Given the description of an element on the screen output the (x, y) to click on. 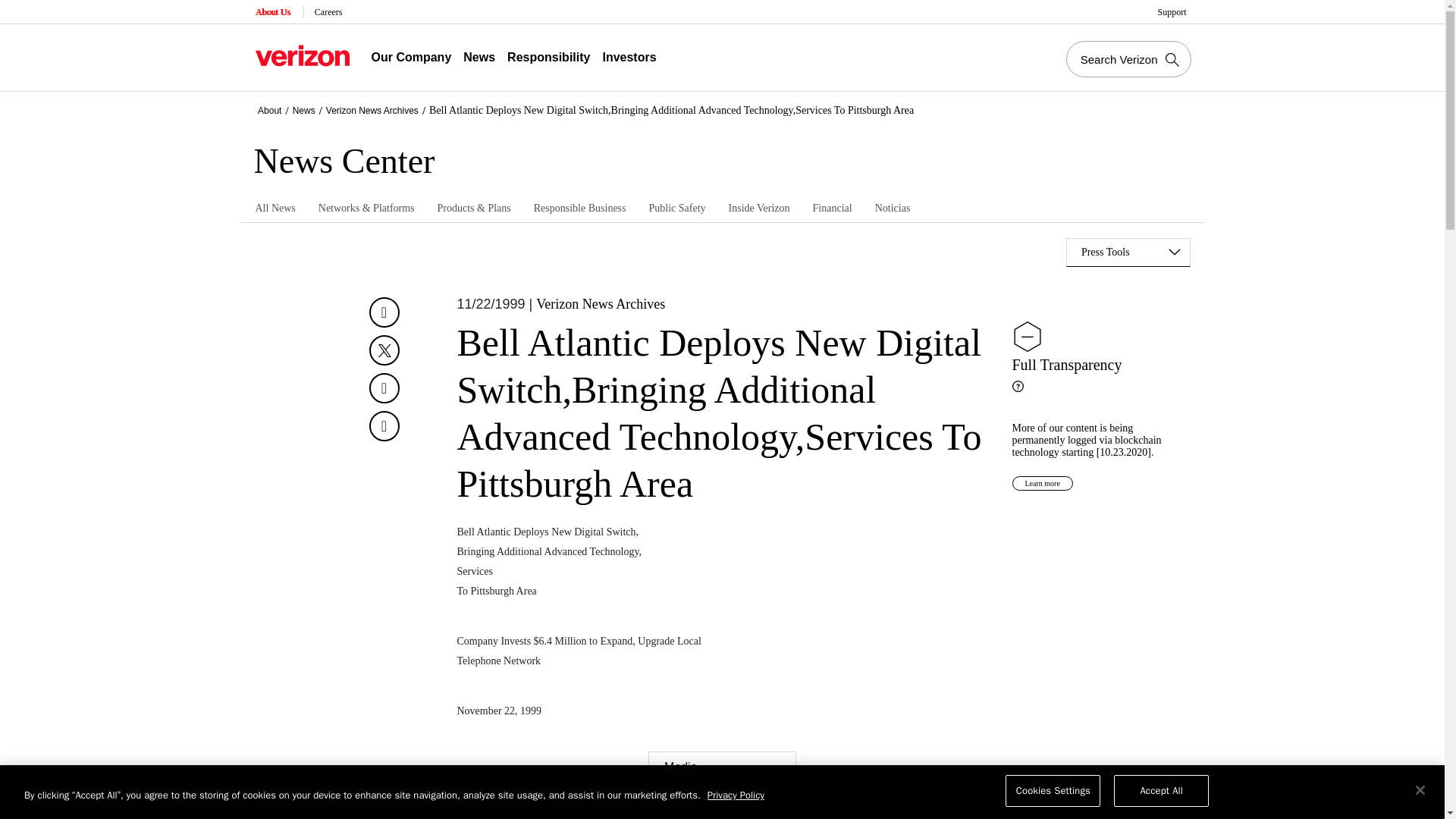
About Us (272, 12)
About Verizon (301, 55)
Careers (329, 12)
Our Company (411, 57)
Support (1173, 12)
